Given the description of an element on the screen output the (x, y) to click on. 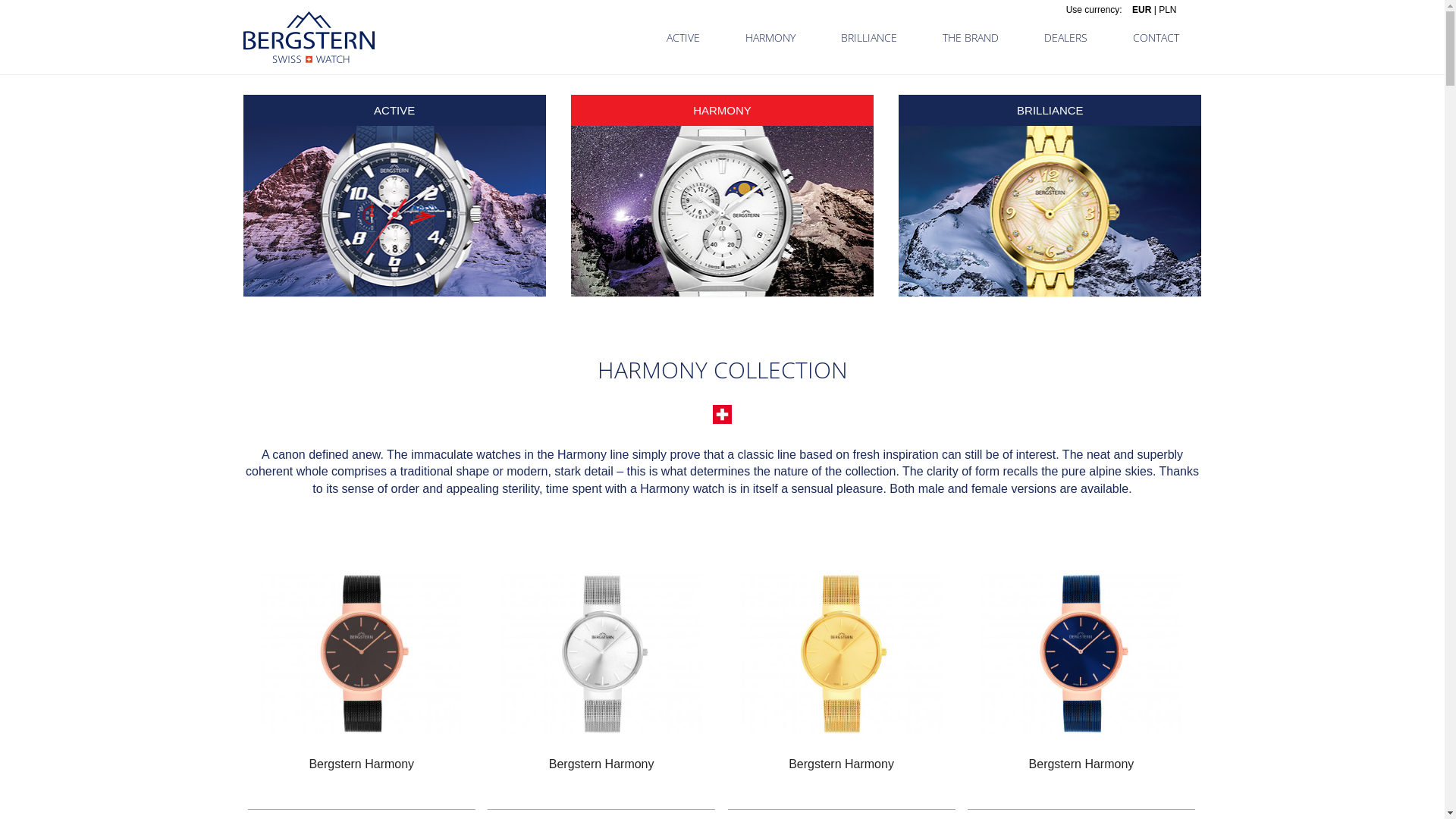
THE BRAND Element type: text (969, 37)
ACTIVE Element type: text (682, 37)
CONTACT Element type: text (1155, 37)
DEALERS Element type: text (1064, 37)
EUR Element type: text (1141, 9)
Bergstern Harmony Element type: text (601, 763)
Bergstern Harmony Element type: text (361, 763)
BRILLIANCE Element type: text (868, 37)
Bergstern Harmony Element type: text (841, 763)
PLN Element type: text (1167, 9)
Bergstern Harmony Element type: text (1081, 763)
HARMONY Element type: text (769, 37)
